Given the description of an element on the screen output the (x, y) to click on. 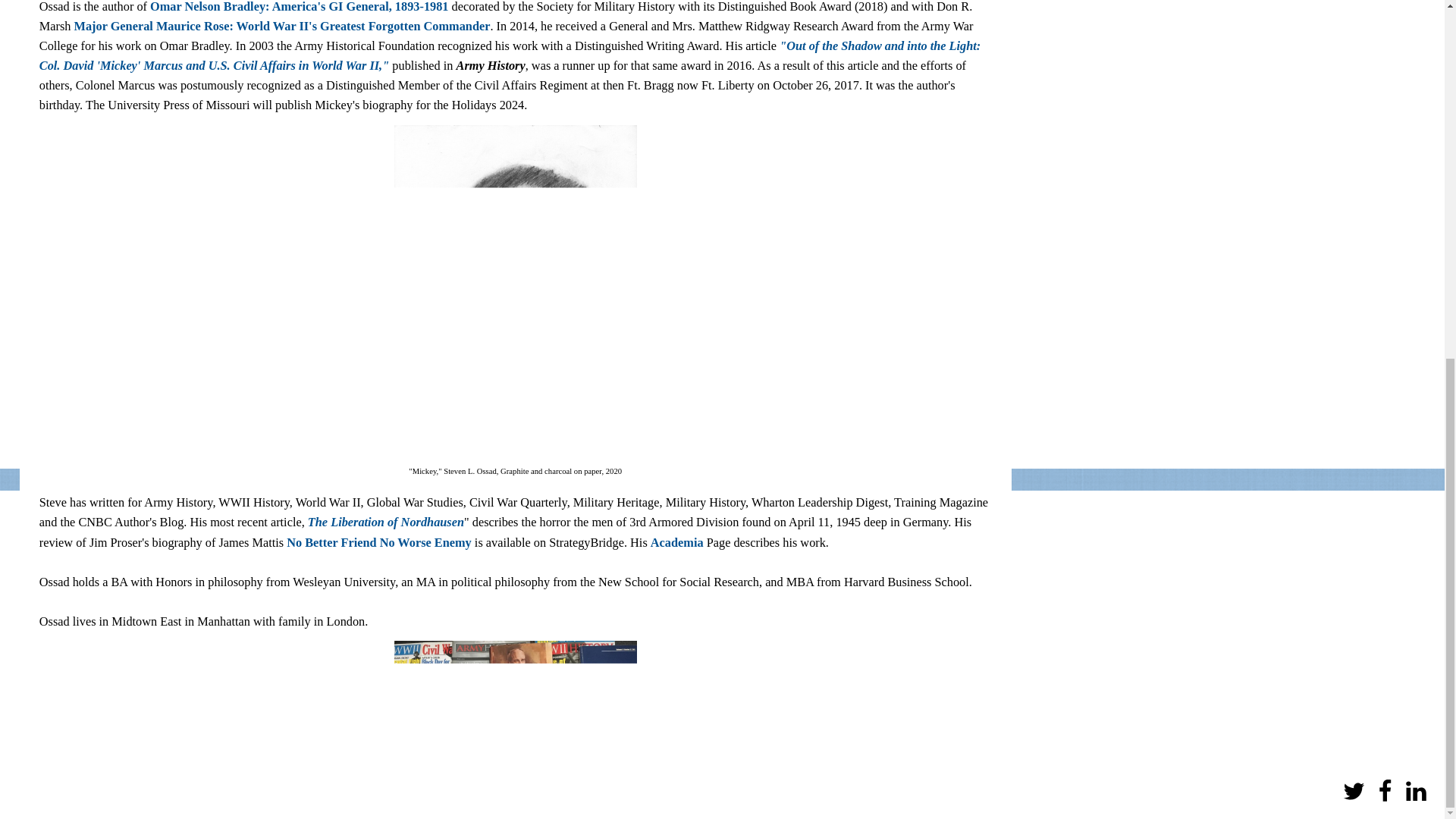
No Better Friend No Worse Enemy (378, 542)
Omar Nelson Bradley: America's GI General, 1893-1981 (298, 6)
The Liberation of Nordhausen (385, 522)
Academia (676, 542)
